Given the description of an element on the screen output the (x, y) to click on. 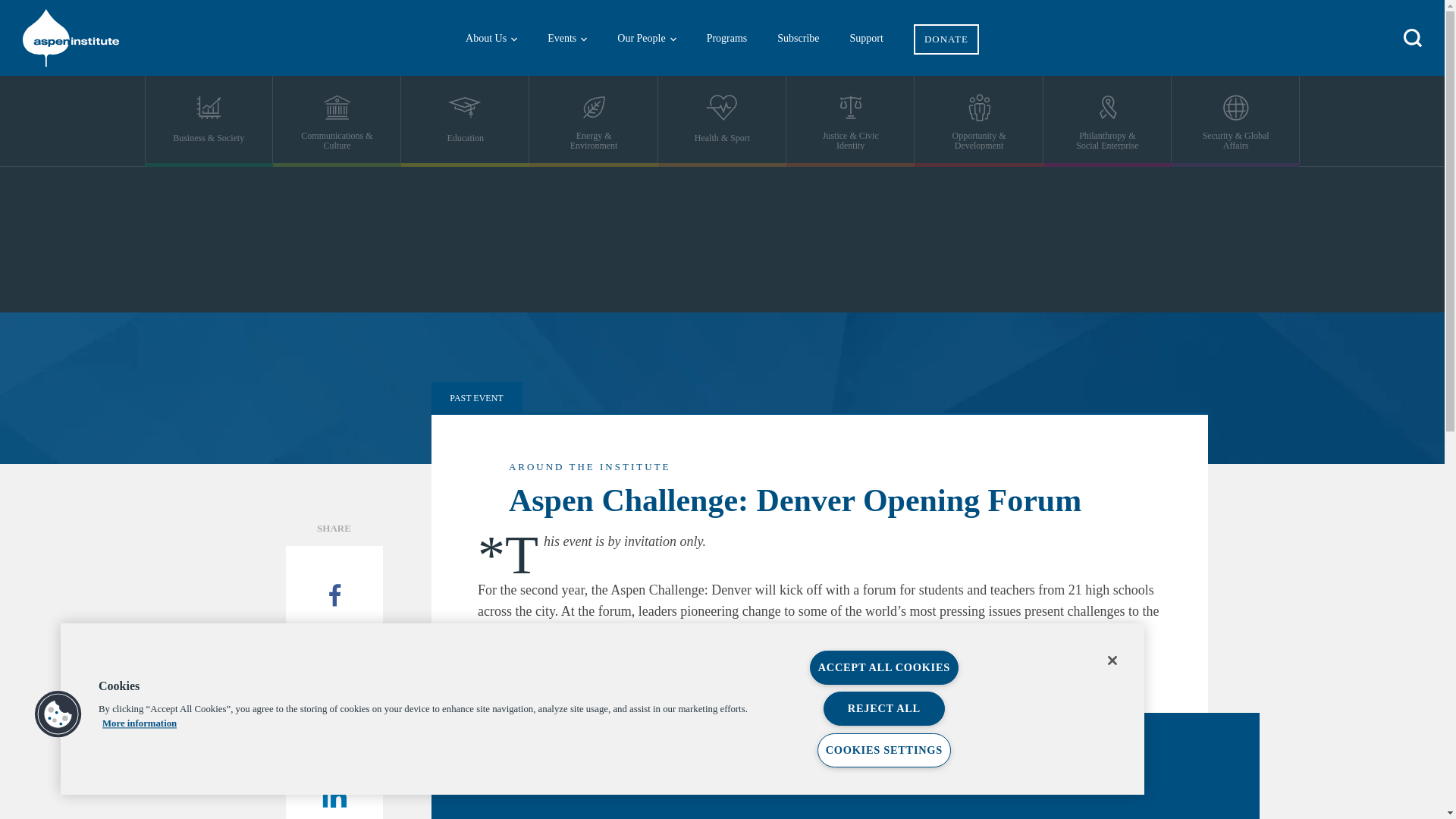
Our People (646, 38)
Subscribe (797, 38)
Support (866, 38)
DONATE (946, 27)
The Aspen Institute (113, 38)
Programs (726, 38)
About Us (490, 38)
Events (567, 38)
Education (465, 121)
